Given the description of an element on the screen output the (x, y) to click on. 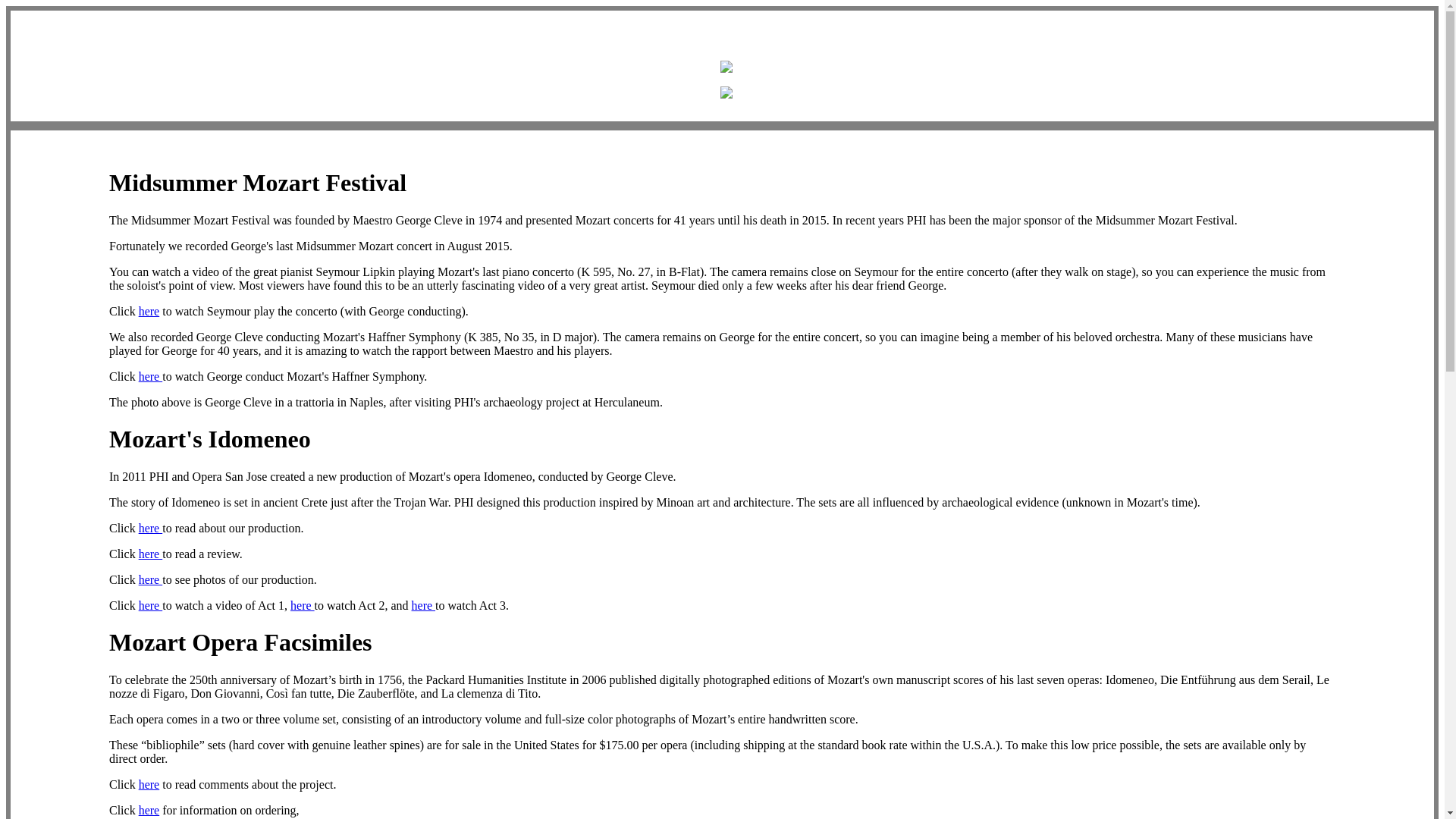
here (150, 376)
here (150, 579)
here (150, 553)
here (150, 527)
here (150, 604)
here (149, 809)
here (423, 604)
here (301, 604)
here (149, 784)
here (149, 310)
